Given the description of an element on the screen output the (x, y) to click on. 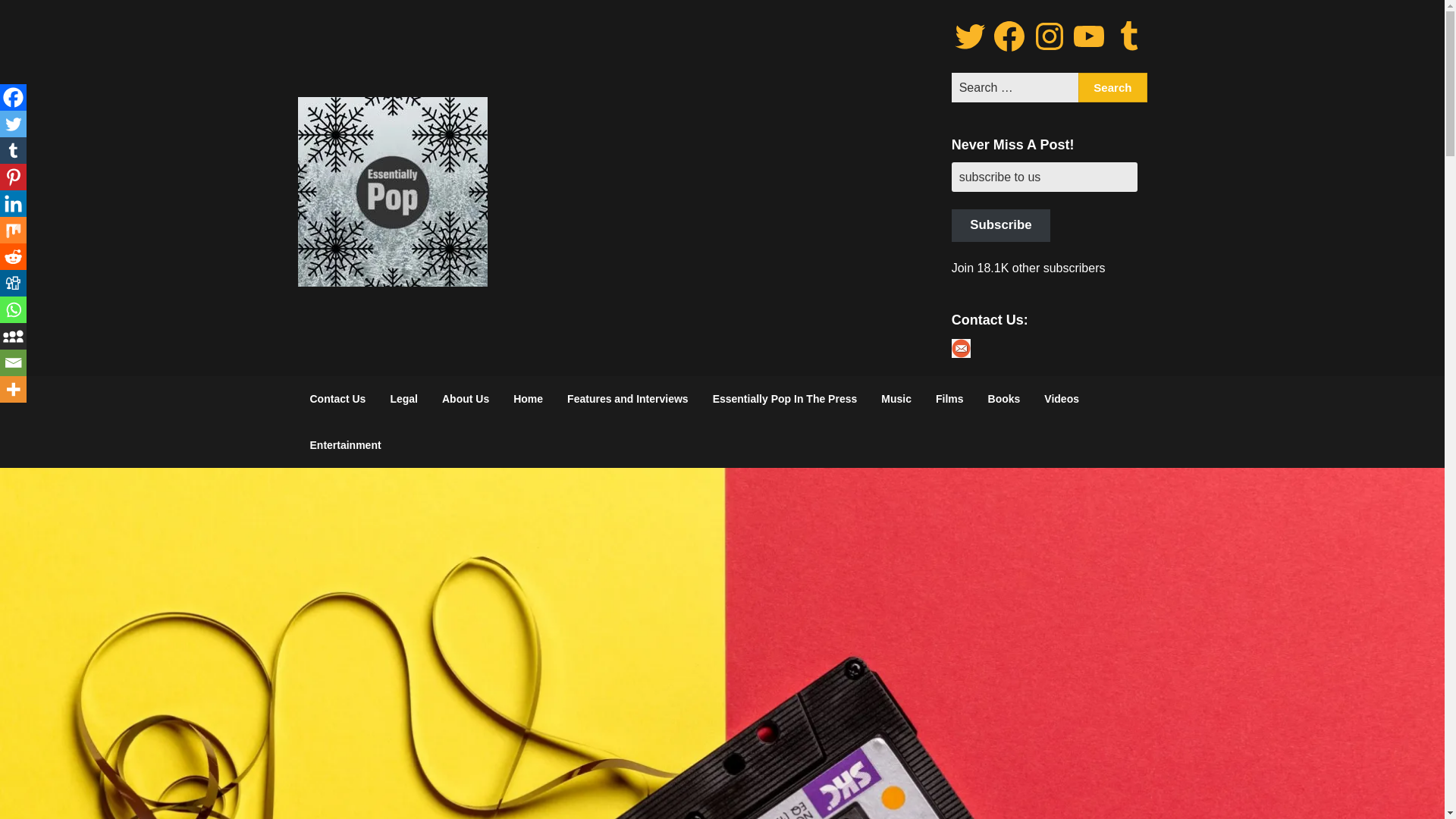
MySpace (13, 335)
Tumblr (1128, 36)
Twitter (13, 123)
More (13, 388)
Tumblr (13, 150)
Digg (13, 283)
YouTube (1088, 36)
Search (1112, 87)
About Us (464, 398)
Search (1112, 87)
